Given the description of an element on the screen output the (x, y) to click on. 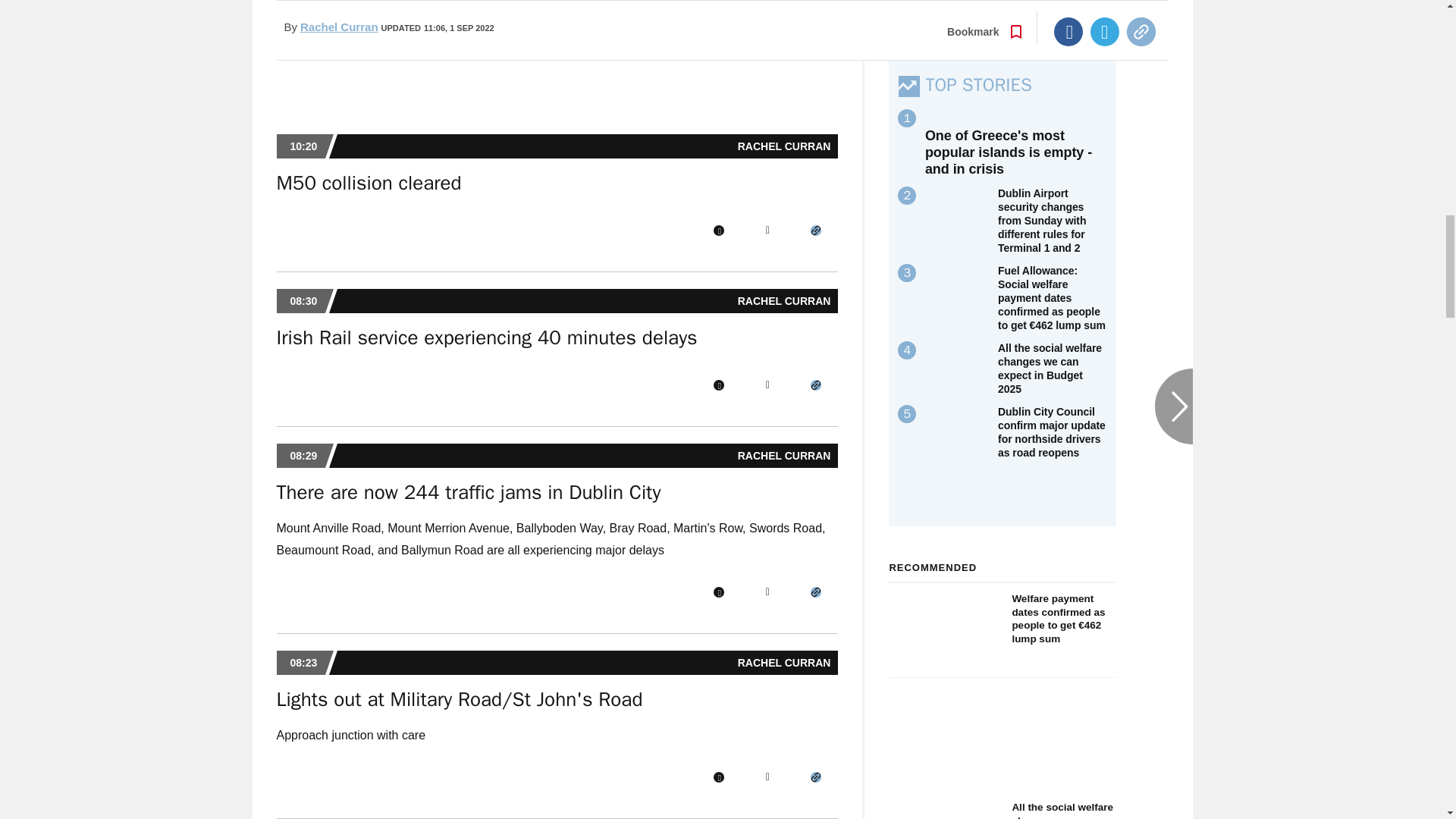
Facebook (718, 592)
Twitter (767, 777)
Facebook (718, 385)
Facebook (718, 777)
Twitter (767, 385)
Twitter (767, 592)
Twitter (767, 230)
Facebook (718, 230)
